Given the description of an element on the screen output the (x, y) to click on. 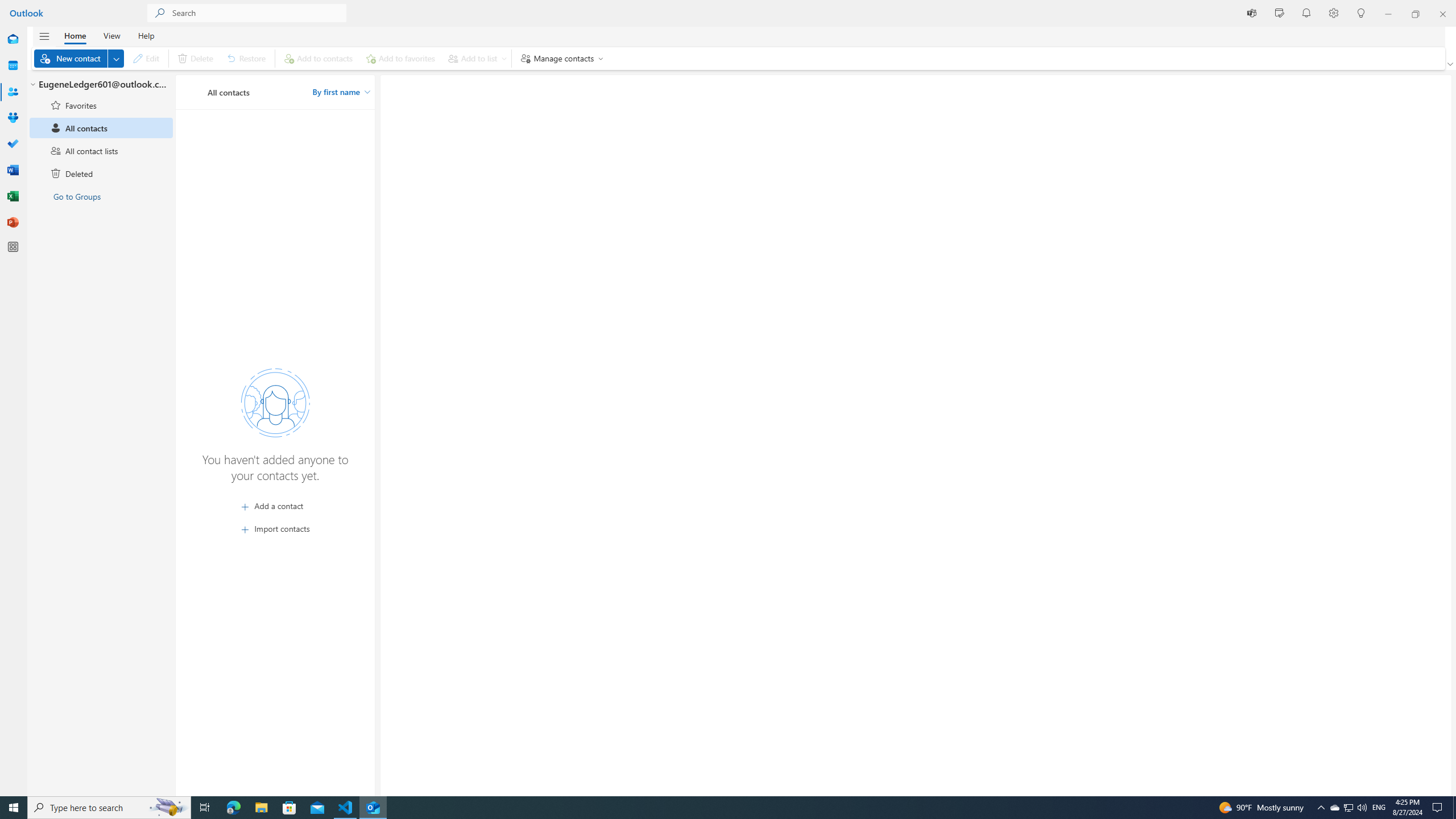
To Do (12, 143)
Delete (194, 58)
More apps (12, 246)
Restore (246, 58)
Running applications (706, 807)
Outlook (new) - 1 running window (373, 807)
Calendar (12, 65)
Groups (12, 118)
Sorting options. Sort by By first name selected (341, 91)
Import contacts (274, 528)
Deleted (101, 172)
Help (146, 35)
